Given the description of an element on the screen output the (x, y) to click on. 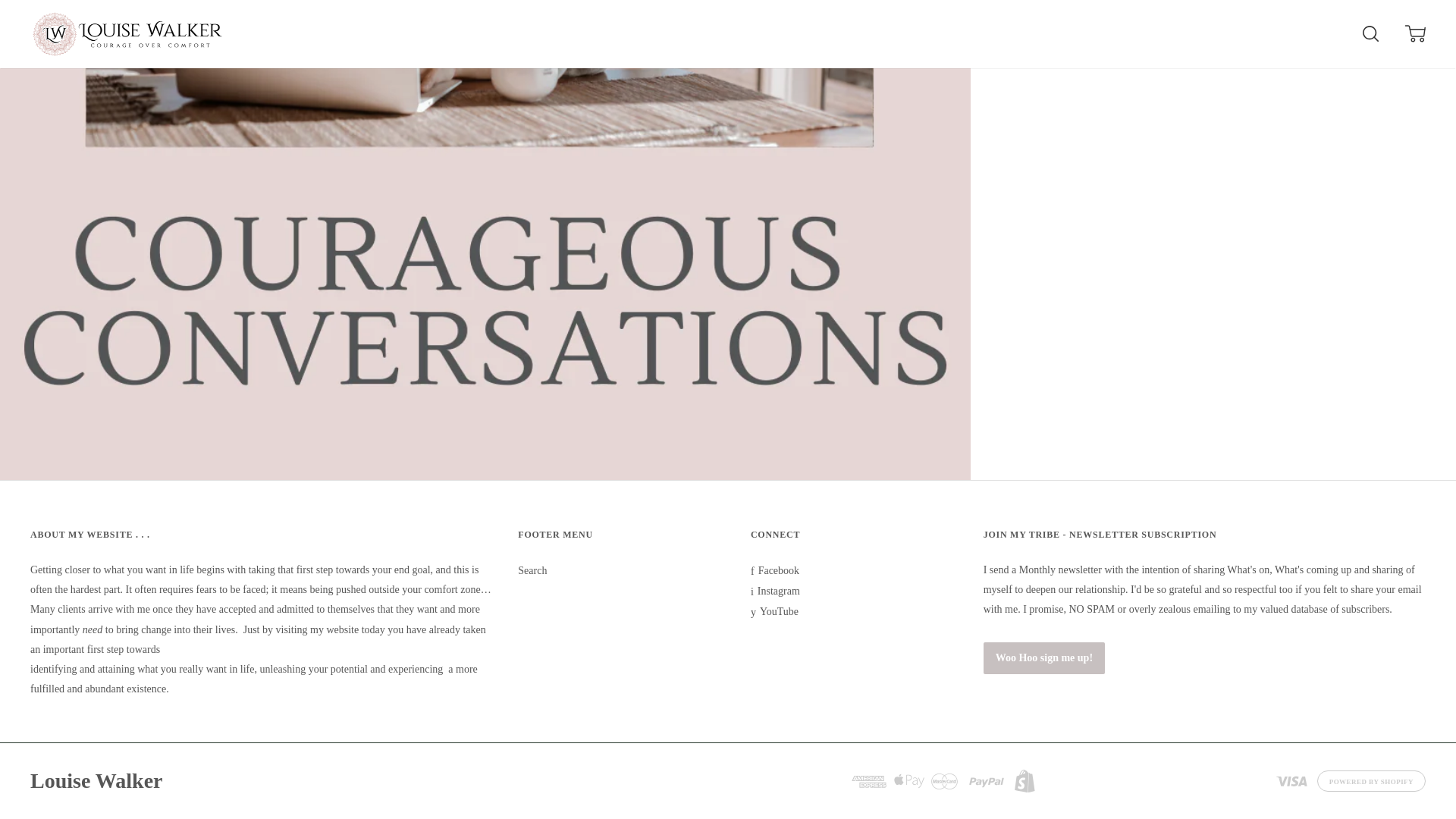
Louise Walker (96, 780)
Woo Hoo sign me up! (1044, 658)
Facebook (775, 570)
YouTube (774, 611)
POWERED BY SHOPIFY (1371, 781)
Instagram (775, 591)
Search (532, 570)
